Given the description of an element on the screen output the (x, y) to click on. 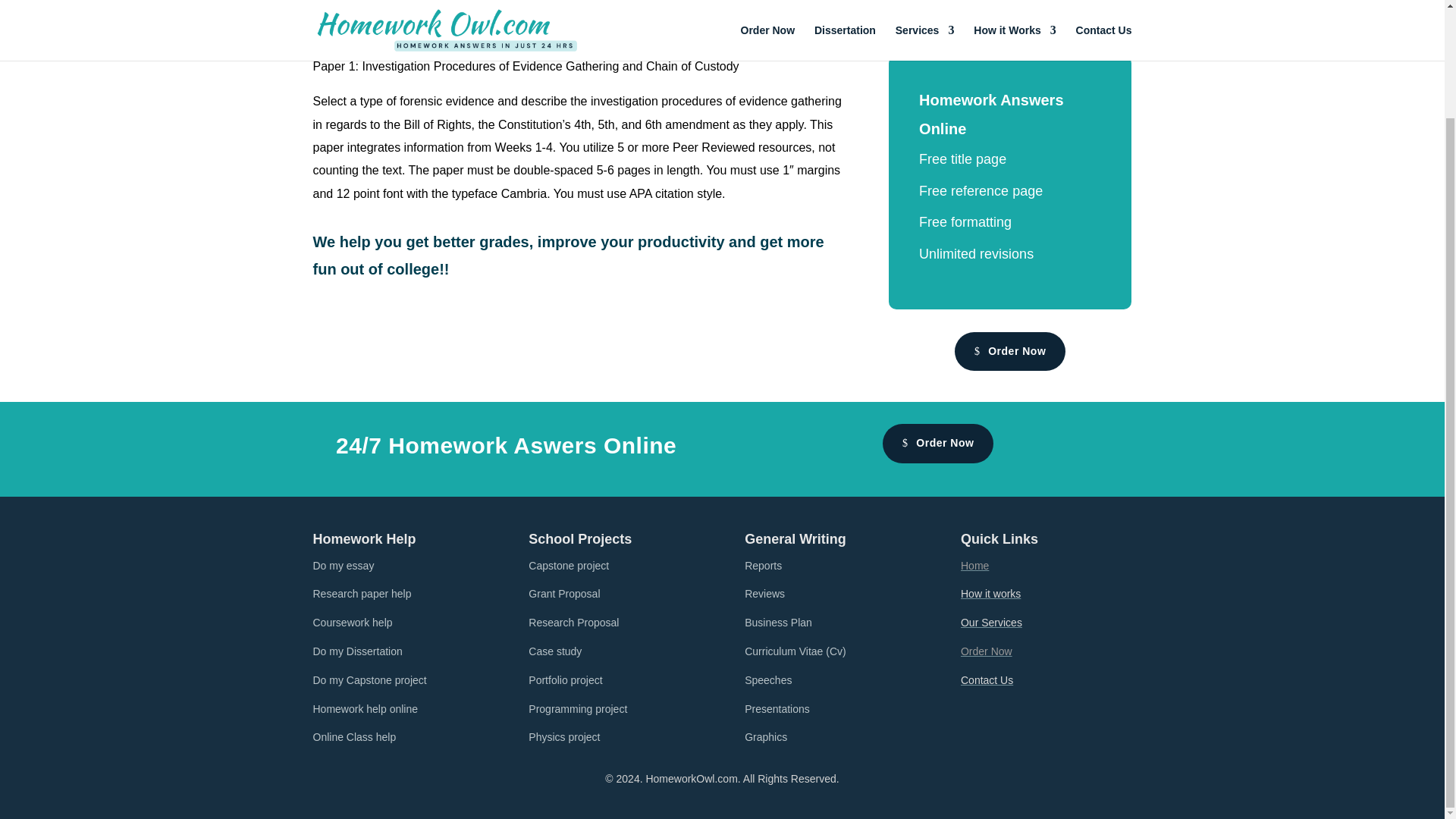
Our Services (991, 622)
Order Now (937, 443)
Criminal Justice (577, 22)
Contact Us (986, 680)
Homework Owl (362, 22)
Order Now (985, 651)
How it works (990, 593)
Home (974, 565)
Posts by Homework Owl (362, 22)
Home (974, 565)
